Given the description of an element on the screen output the (x, y) to click on. 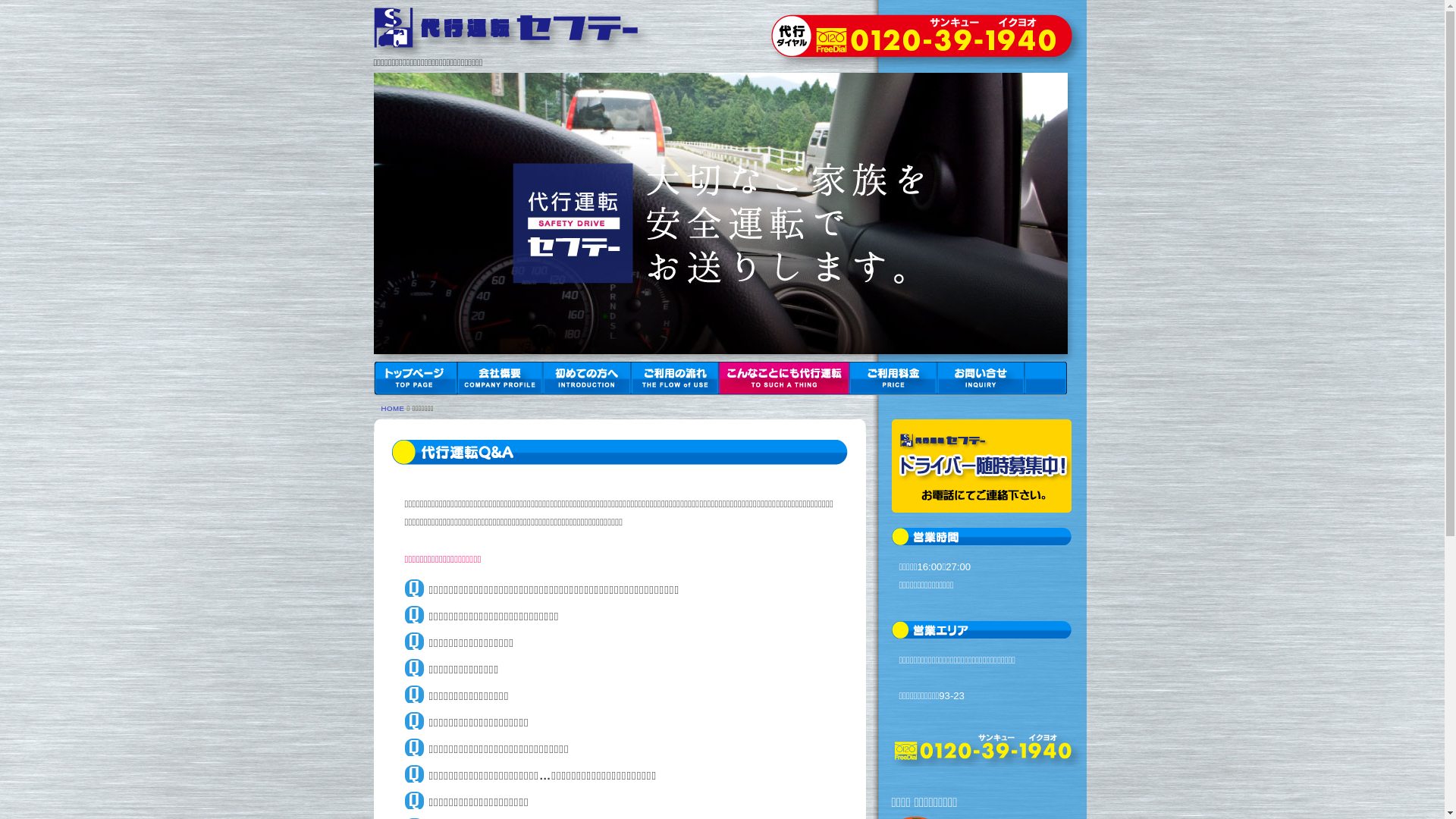
HOME Element type: text (392, 408)
